Given the description of an element on the screen output the (x, y) to click on. 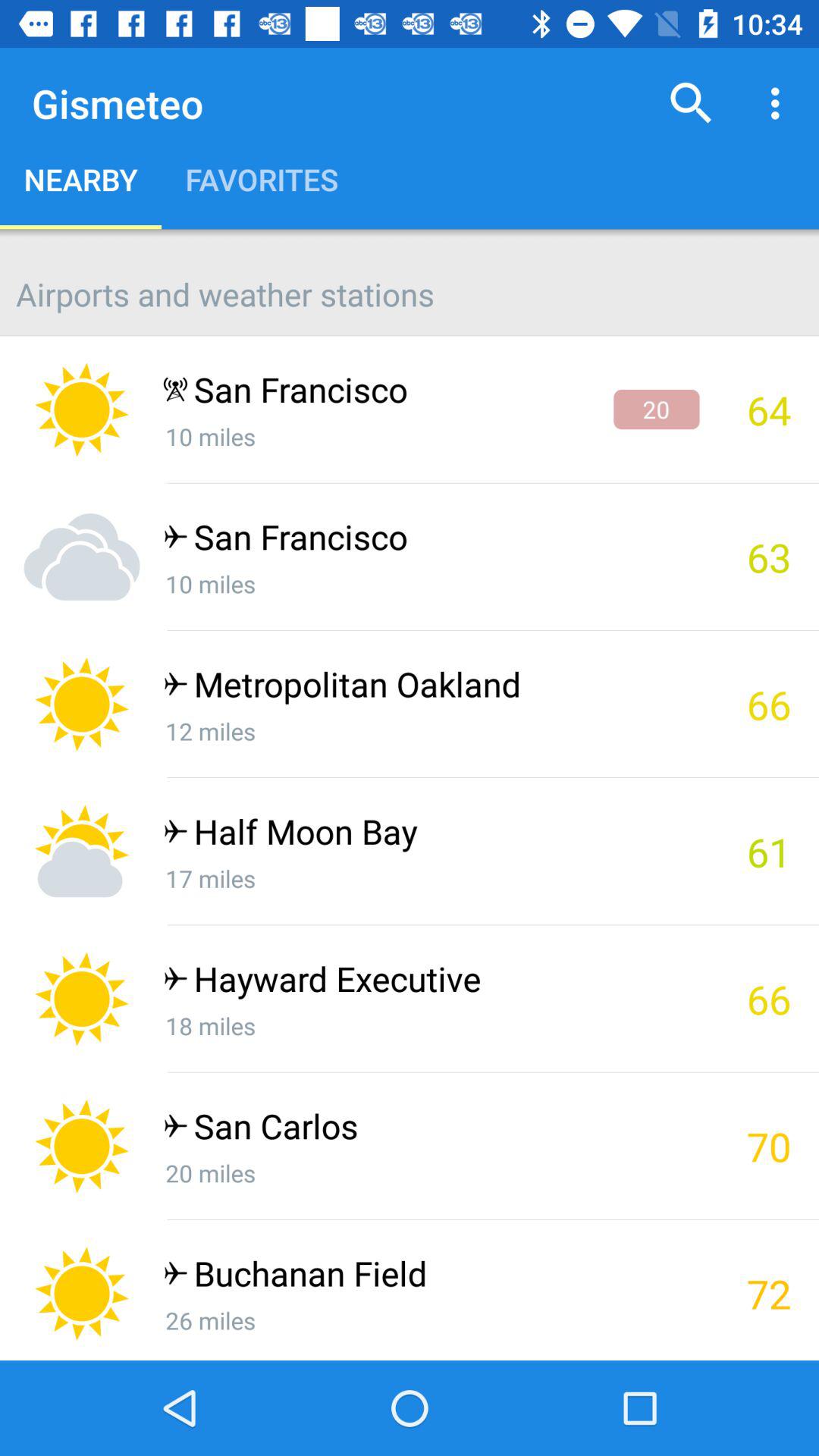
swipe to the 17 miles item (431, 878)
